Given the description of an element on the screen output the (x, y) to click on. 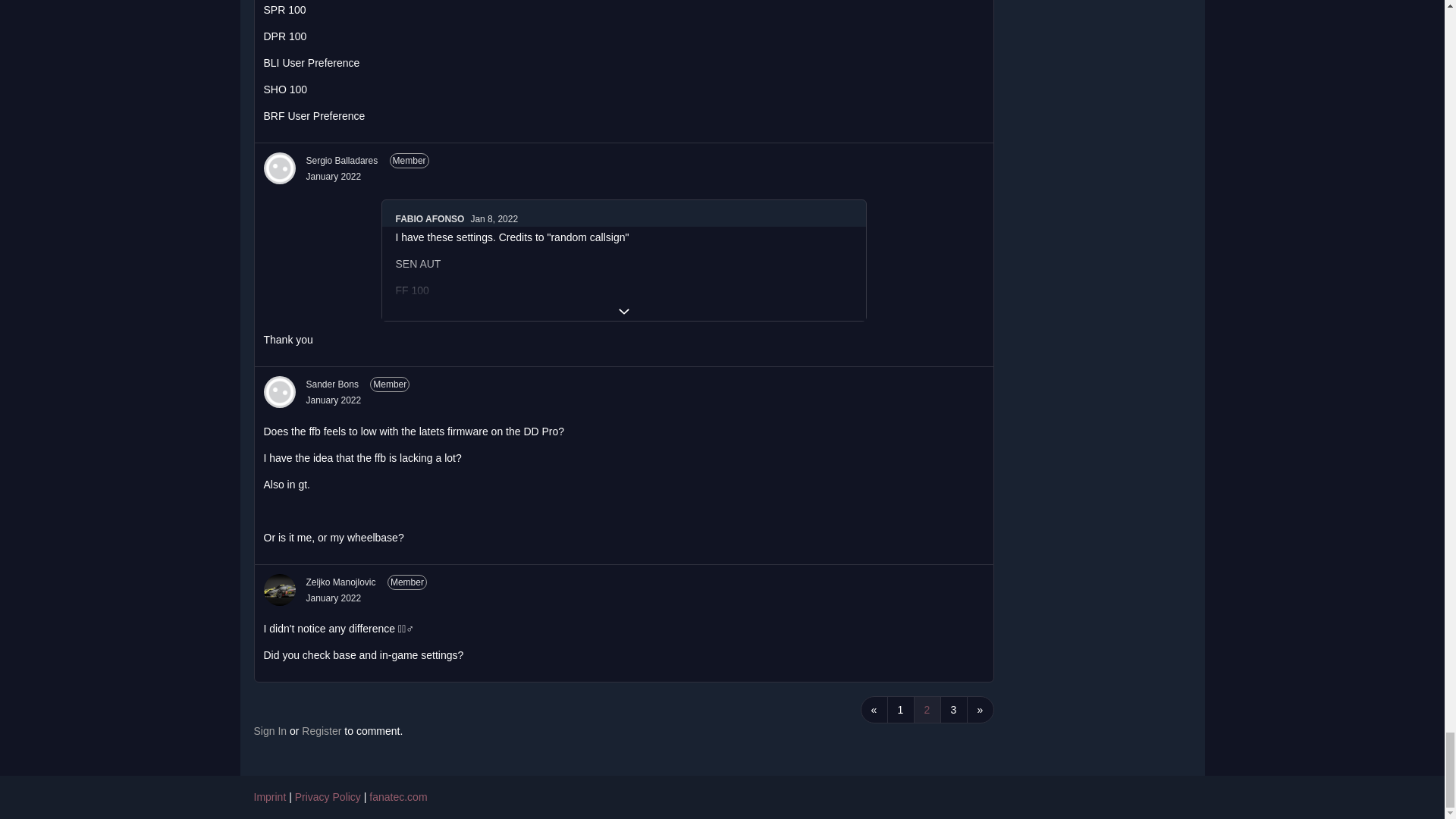
Expand (622, 311)
